Given the description of an element on the screen output the (x, y) to click on. 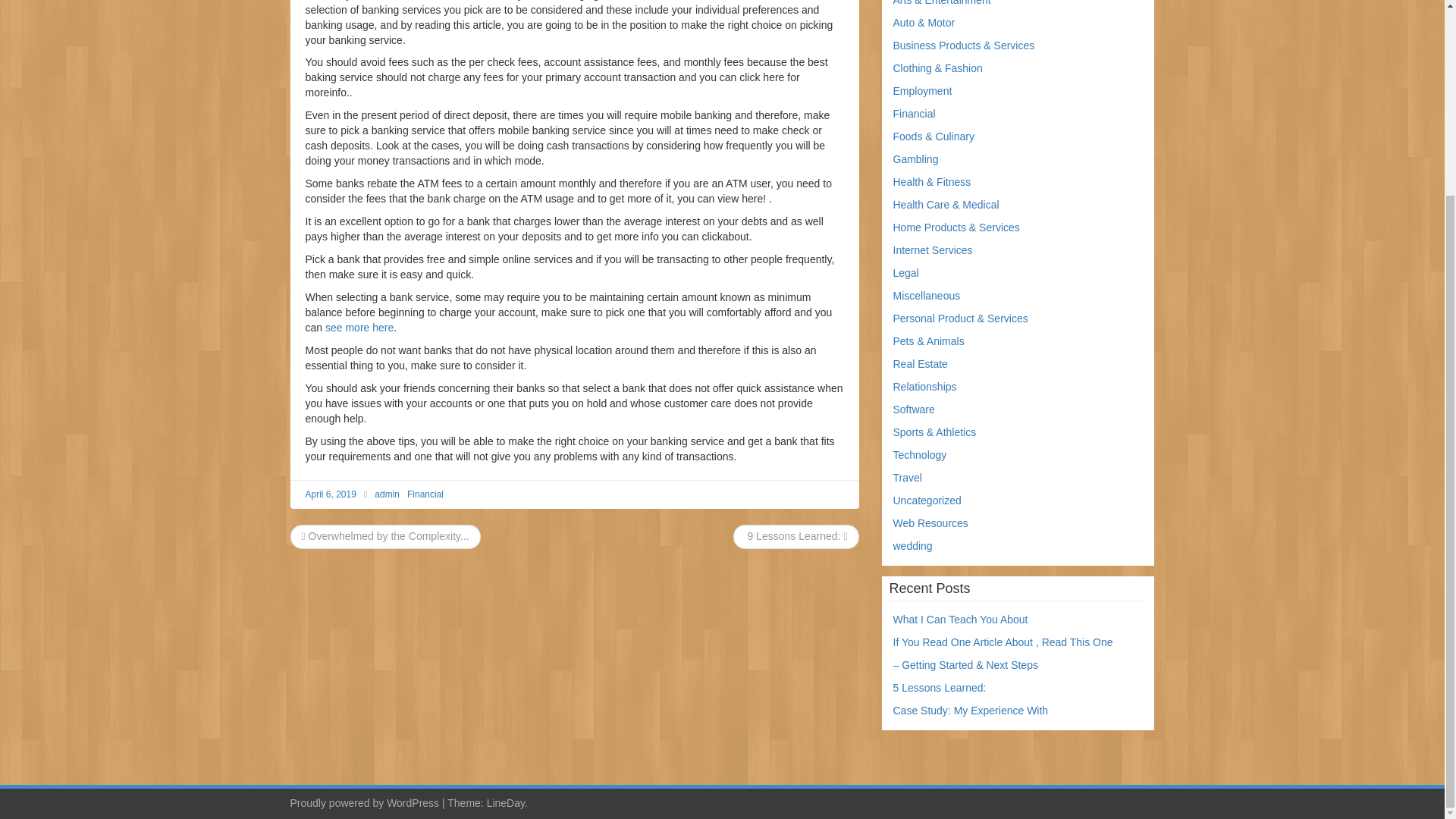
Web Resources (930, 522)
Legal (905, 272)
Employment (922, 91)
Financial (914, 113)
 9 Lessons Learned:  (795, 535)
Relationships (924, 386)
Financial (425, 493)
see more here (358, 327)
Software (913, 409)
Internet Services (932, 250)
Travel (907, 477)
Miscellaneous (926, 295)
April 6, 2019 (329, 493)
If You Read One Article About , Read This One (1003, 642)
wedding (913, 545)
